Given the description of an element on the screen output the (x, y) to click on. 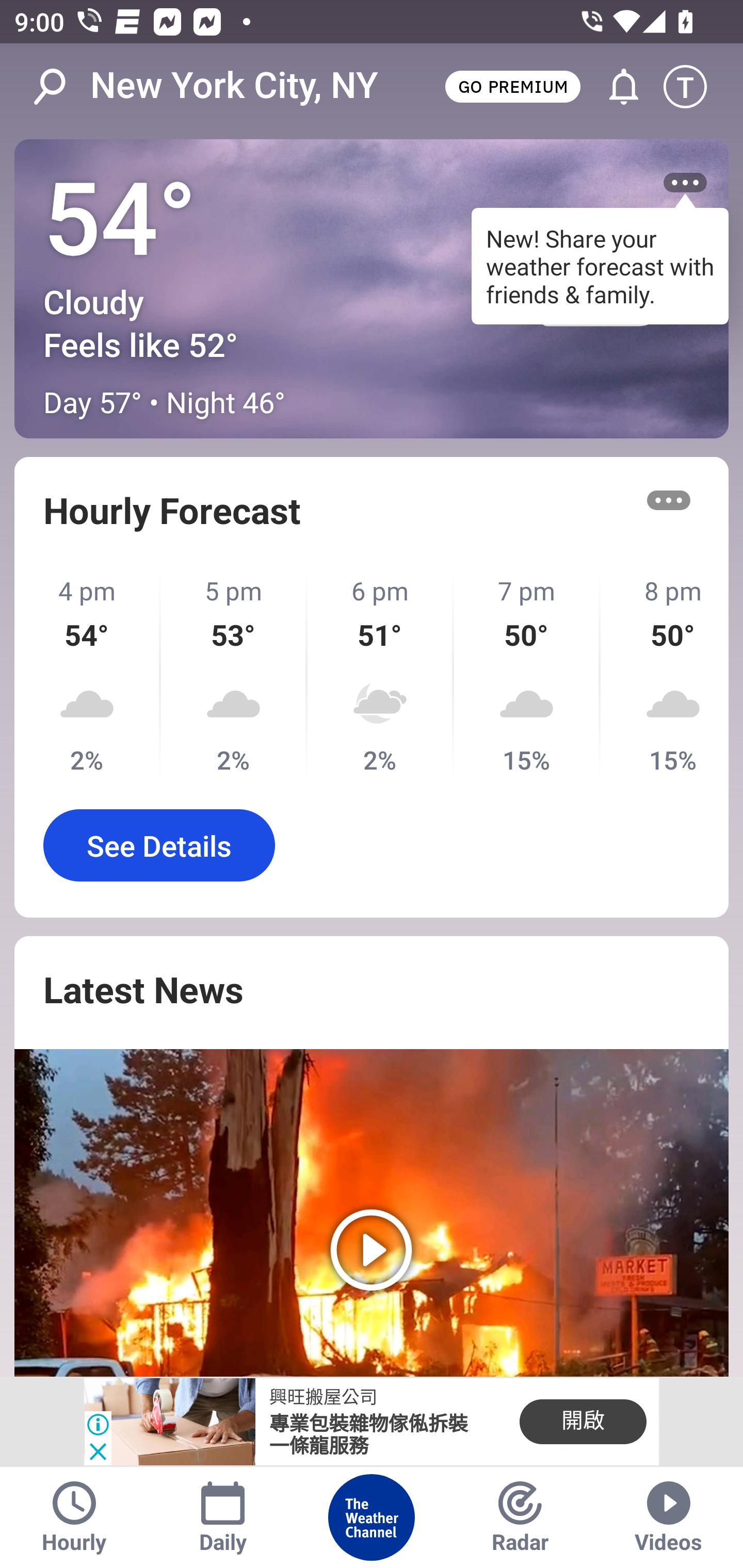
Search (59, 86)
Go to Alerts and Notifications (614, 86)
Setting icon T (694, 86)
New York City, NY (234, 85)
GO PREMIUM (512, 85)
More options (684, 182)
More options (668, 500)
4 pm 54° 2% (87, 674)
5 pm 53° 2% (234, 674)
6 pm 51° 2% (380, 674)
7 pm 50° 15% (526, 674)
8 pm 50° 15% (664, 674)
See Details (158, 845)
Play (371, 1212)
Hourly Tab Hourly (74, 1517)
Daily Tab Daily (222, 1517)
Radar Tab Radar (519, 1517)
Videos Tab Videos (668, 1517)
